Given the description of an element on the screen output the (x, y) to click on. 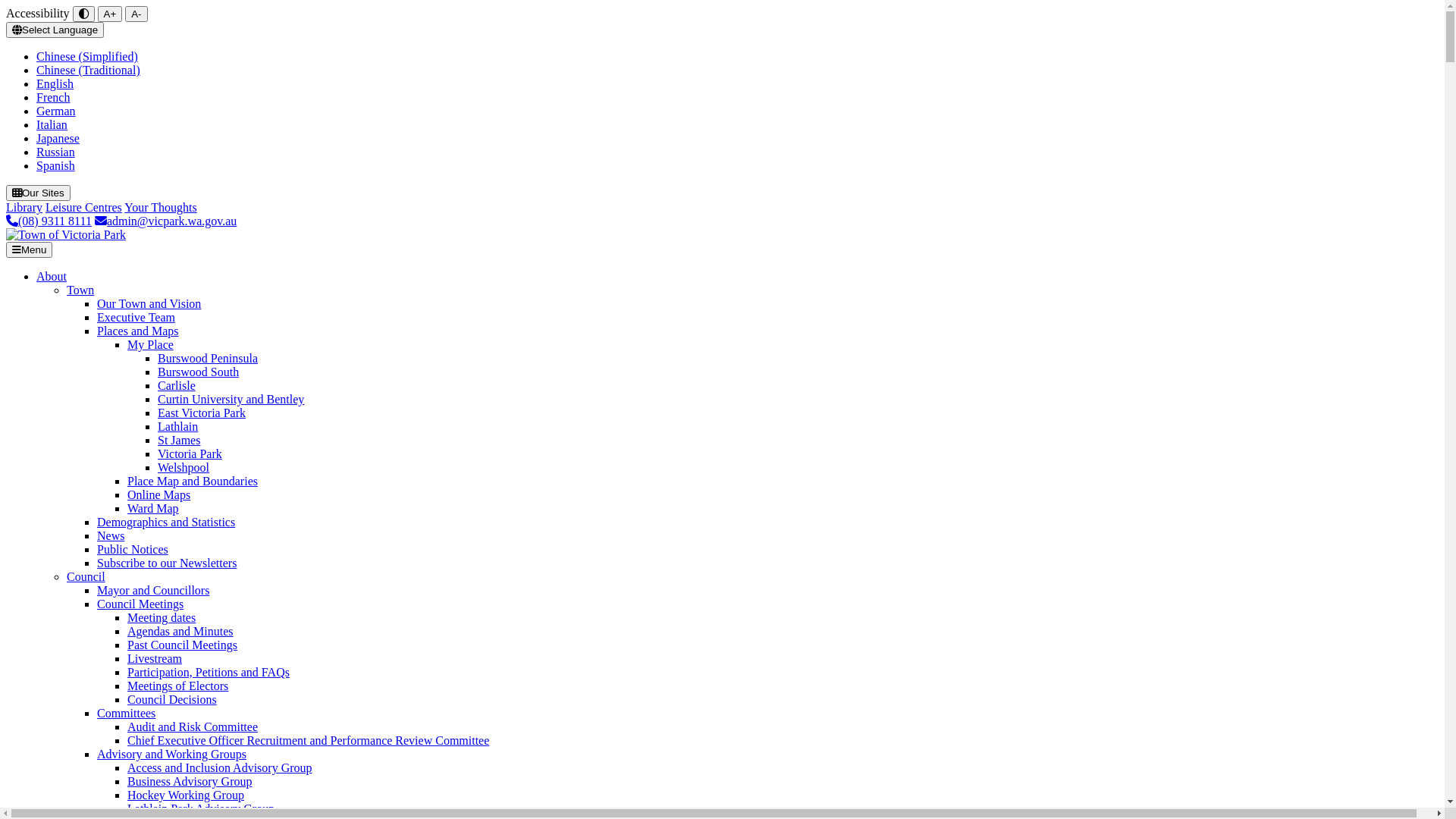
Library Element type: text (24, 206)
Curtin University and Bentley Element type: text (230, 398)
Meetings of Electors Element type: text (177, 685)
Agendas and Minutes Element type: text (180, 630)
English Element type: text (54, 83)
Russian Element type: text (55, 151)
Participation, Petitions and FAQs Element type: text (208, 671)
Lathlain Element type: text (177, 426)
Spanish Element type: text (55, 165)
Victoria Park Element type: text (189, 453)
Council Element type: text (85, 576)
Your Thoughts Element type: text (160, 206)
Ward Map Element type: text (152, 508)
Welshpool Element type: text (183, 467)
Hockey Working Group Element type: text (185, 794)
Our Town and Vision Element type: text (148, 303)
German Element type: text (55, 110)
Burswood Peninsula Element type: text (207, 357)
East Victoria Park Element type: text (201, 412)
Advisory and Working Groups Element type: text (171, 753)
Past Council Meetings Element type: text (182, 644)
(08) 9311 8111 Element type: text (48, 220)
News Element type: text (110, 535)
Italian Element type: text (51, 124)
Demographics and Statistics Element type: text (166, 521)
Burswood South Element type: text (197, 371)
Public Notices Element type: text (132, 548)
Online Maps Element type: text (158, 494)
Lathlain Park Advisory Group Element type: text (200, 808)
St James Element type: text (178, 439)
Select Language Element type: text (54, 29)
Our Sites Element type: text (38, 192)
High Contrast Element type: text (83, 13)
Skip to Content Element type: text (5, 5)
Leisure Centres Element type: text (83, 206)
About Element type: text (51, 275)
Town Element type: text (80, 289)
Subscribe to our Newsletters Element type: text (166, 562)
Chinese (Simplified) Element type: text (87, 56)
Council Meetings Element type: text (140, 603)
French Element type: text (52, 97)
My Place Element type: text (150, 344)
Mayor and Councillors Element type: text (153, 589)
Meeting dates Element type: text (161, 617)
Chinese (Traditional) Element type: text (88, 69)
Place Map and Boundaries Element type: text (192, 480)
Livestream Element type: text (154, 658)
Executive Team Element type: text (136, 316)
Committees Element type: text (126, 712)
Business Advisory Group Element type: text (189, 781)
Menu Element type: text (29, 249)
Council Decisions Element type: text (171, 699)
Japanese Element type: text (57, 137)
Carlisle Element type: text (176, 385)
Access and Inclusion Advisory Group Element type: text (219, 767)
A+ Element type: text (109, 13)
admin@vicpark.wa.gov.au Element type: text (165, 220)
Audit and Risk Committee Element type: text (192, 726)
A- Element type: text (136, 13)
Places and Maps Element type: text (137, 330)
